Given the description of an element on the screen output the (x, y) to click on. 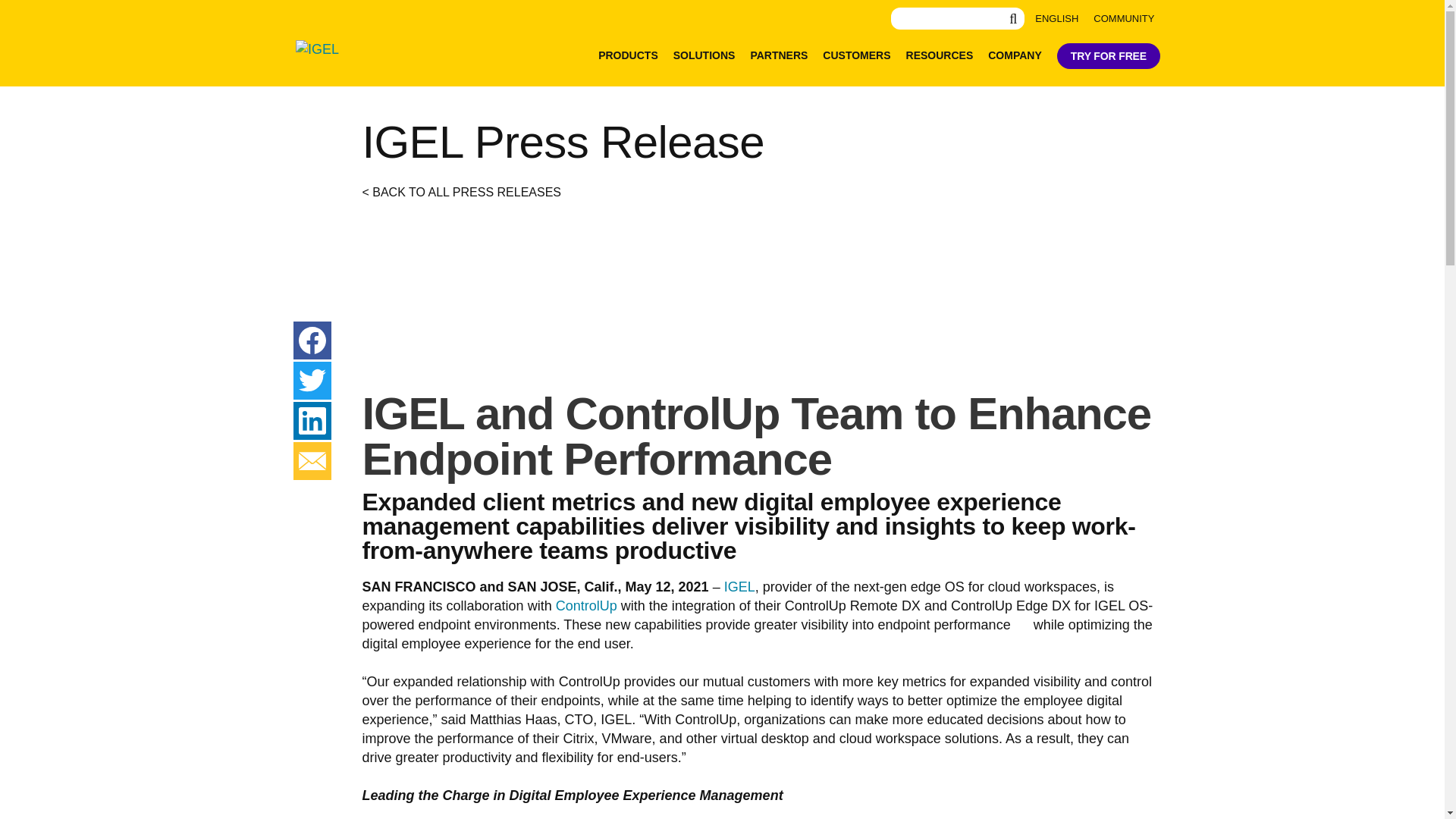
COMMUNITY (1123, 18)
ENGLISH (1056, 18)
English (1056, 18)
